Given the description of an element on the screen output the (x, y) to click on. 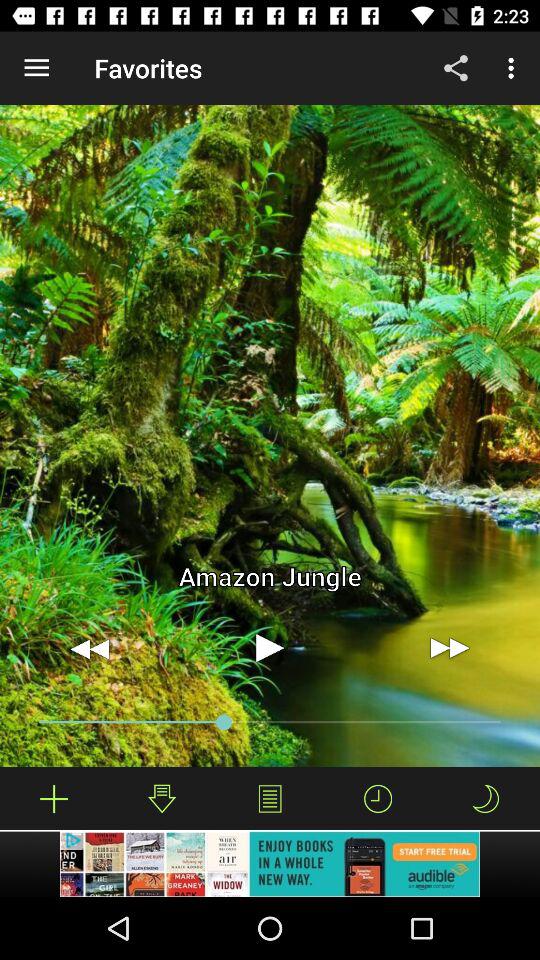
add white noise (54, 798)
